Given the description of an element on the screen output the (x, y) to click on. 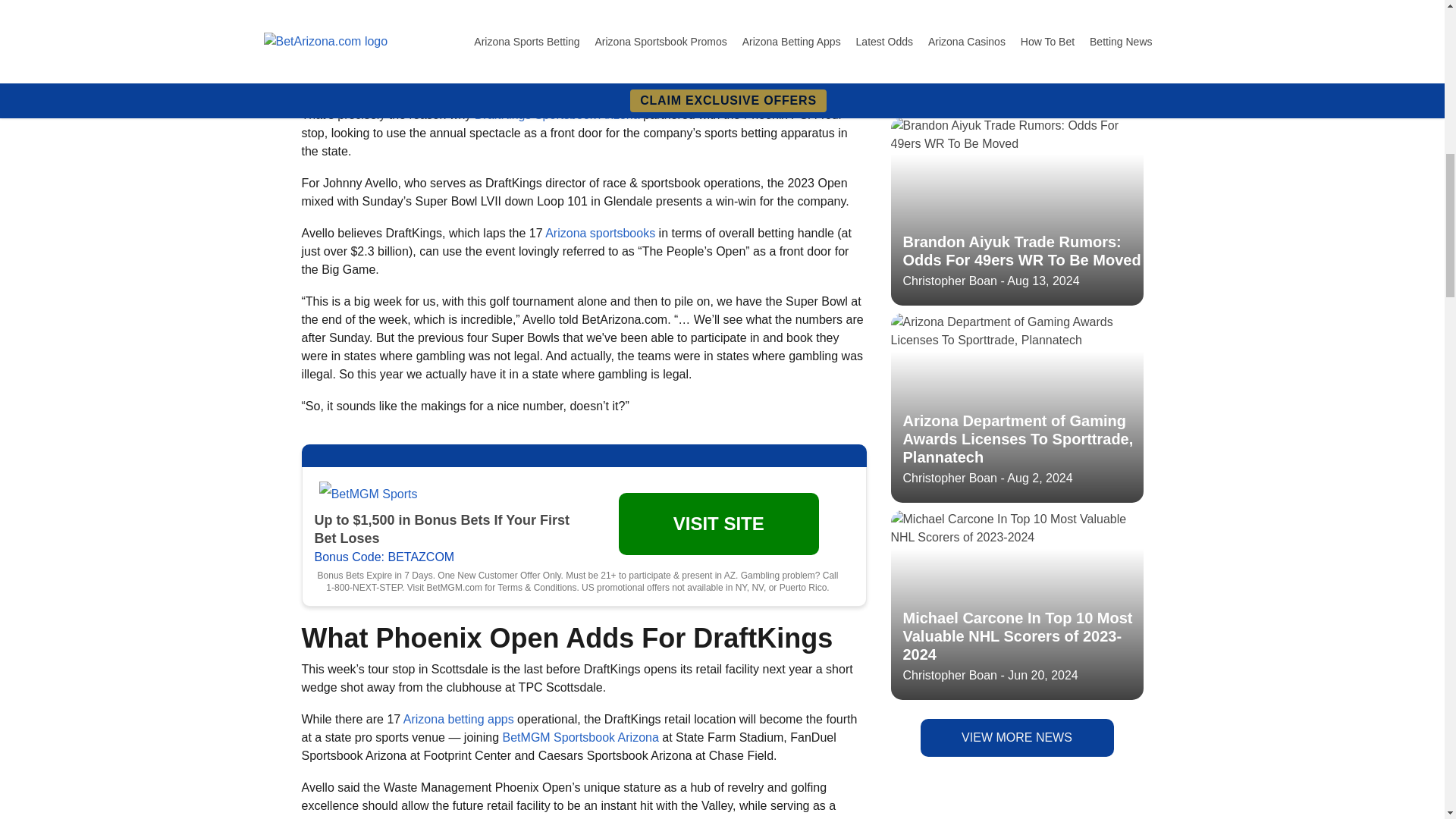
BetMGM Sports (367, 493)
DraftKings Sports (368, 2)
